Given the description of an element on the screen output the (x, y) to click on. 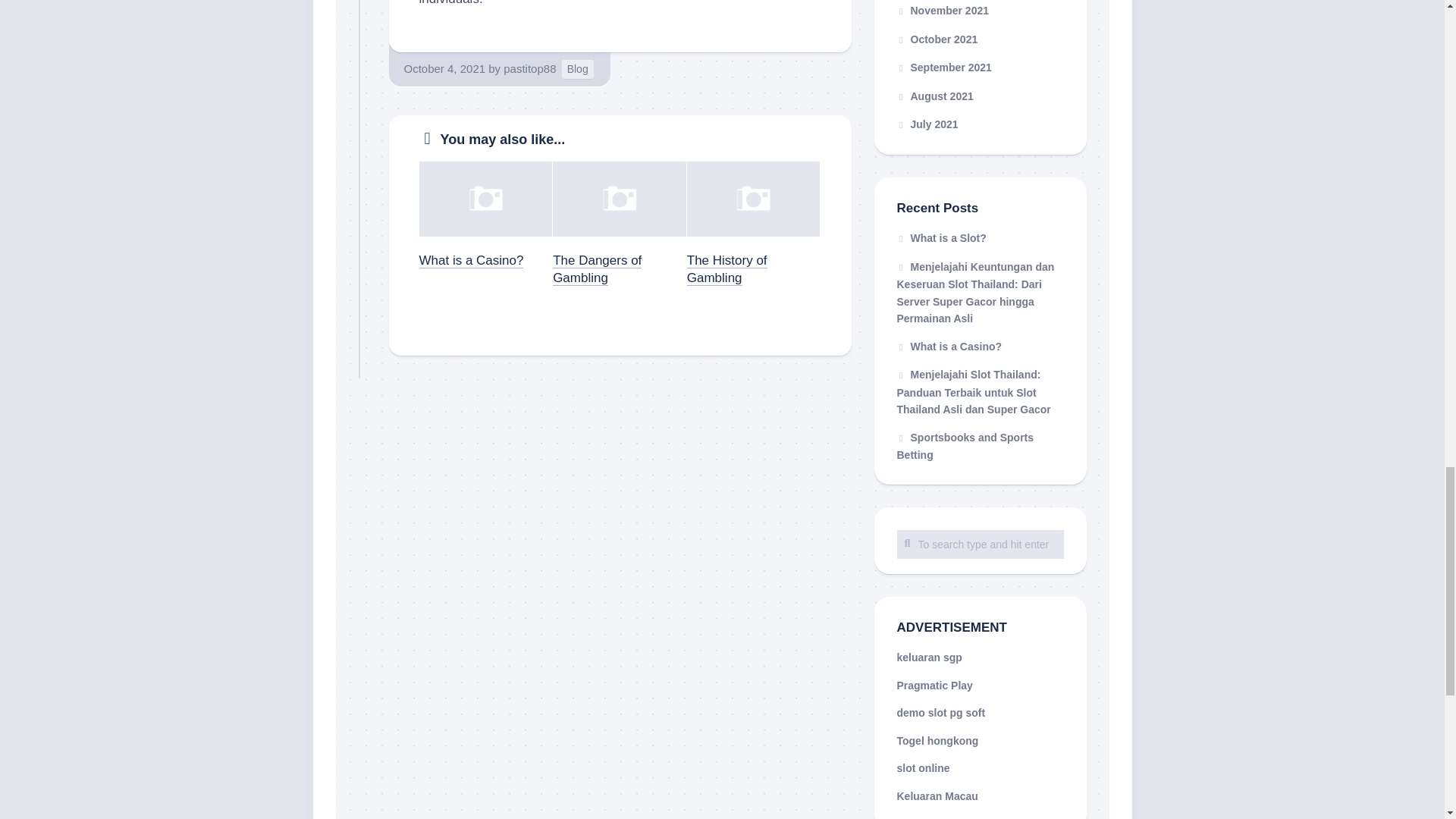
pastitop88 (529, 68)
The History of Gambling (727, 269)
To search type and hit enter (979, 543)
Blog (578, 68)
Posts by pastitop88 (529, 68)
What is a Casino? (470, 260)
The Dangers of Gambling (597, 269)
To search type and hit enter (979, 543)
